Given the description of an element on the screen output the (x, y) to click on. 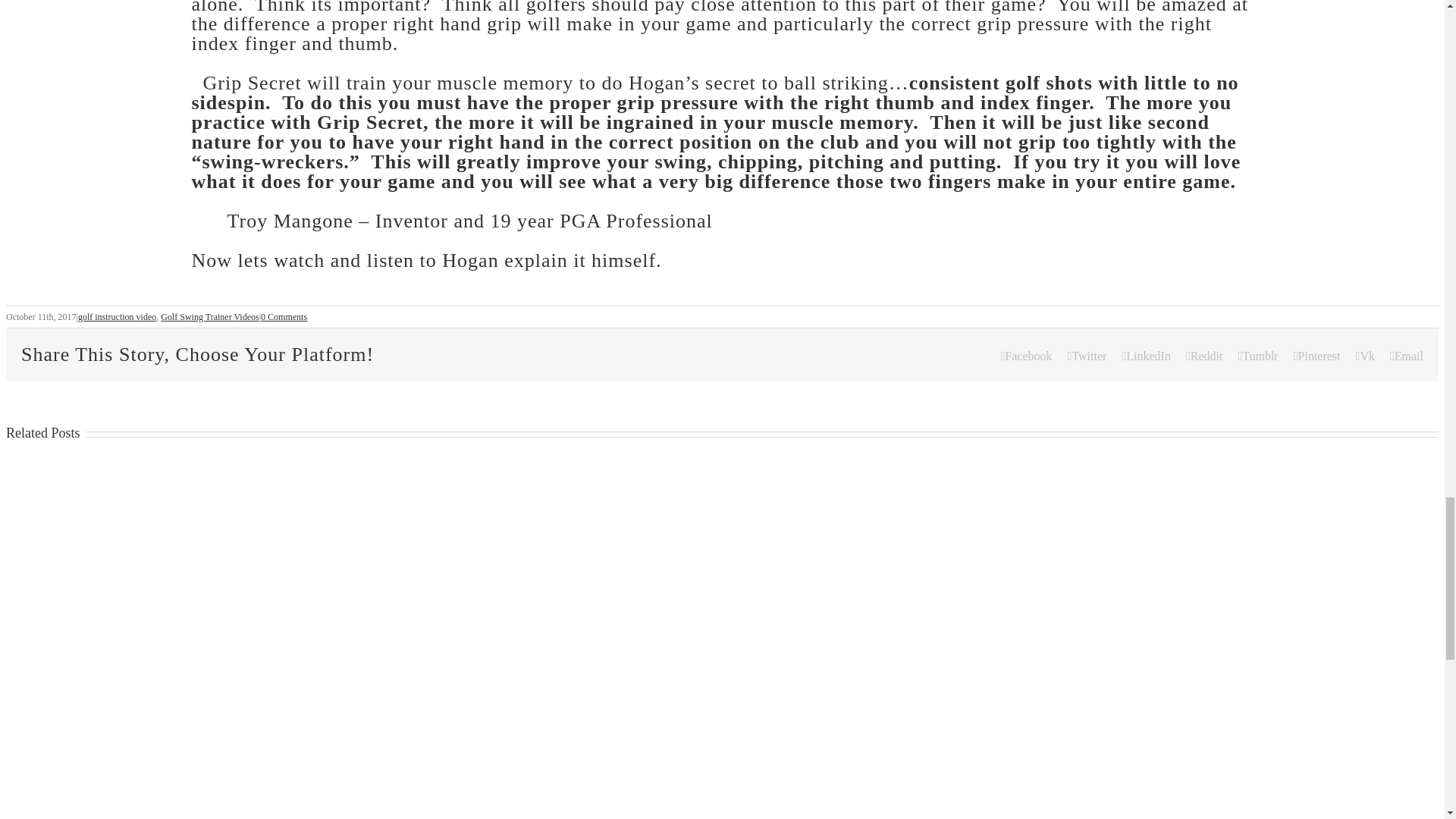
0 Comments (283, 317)
golf instruction video (116, 317)
Tumblr (1257, 356)
Vk (1364, 356)
Pinterest (1317, 356)
Reddit (1204, 356)
Facebook (1026, 356)
LinkedIn (1145, 356)
Twitter (1086, 356)
Facebook (1026, 356)
